Given the description of an element on the screen output the (x, y) to click on. 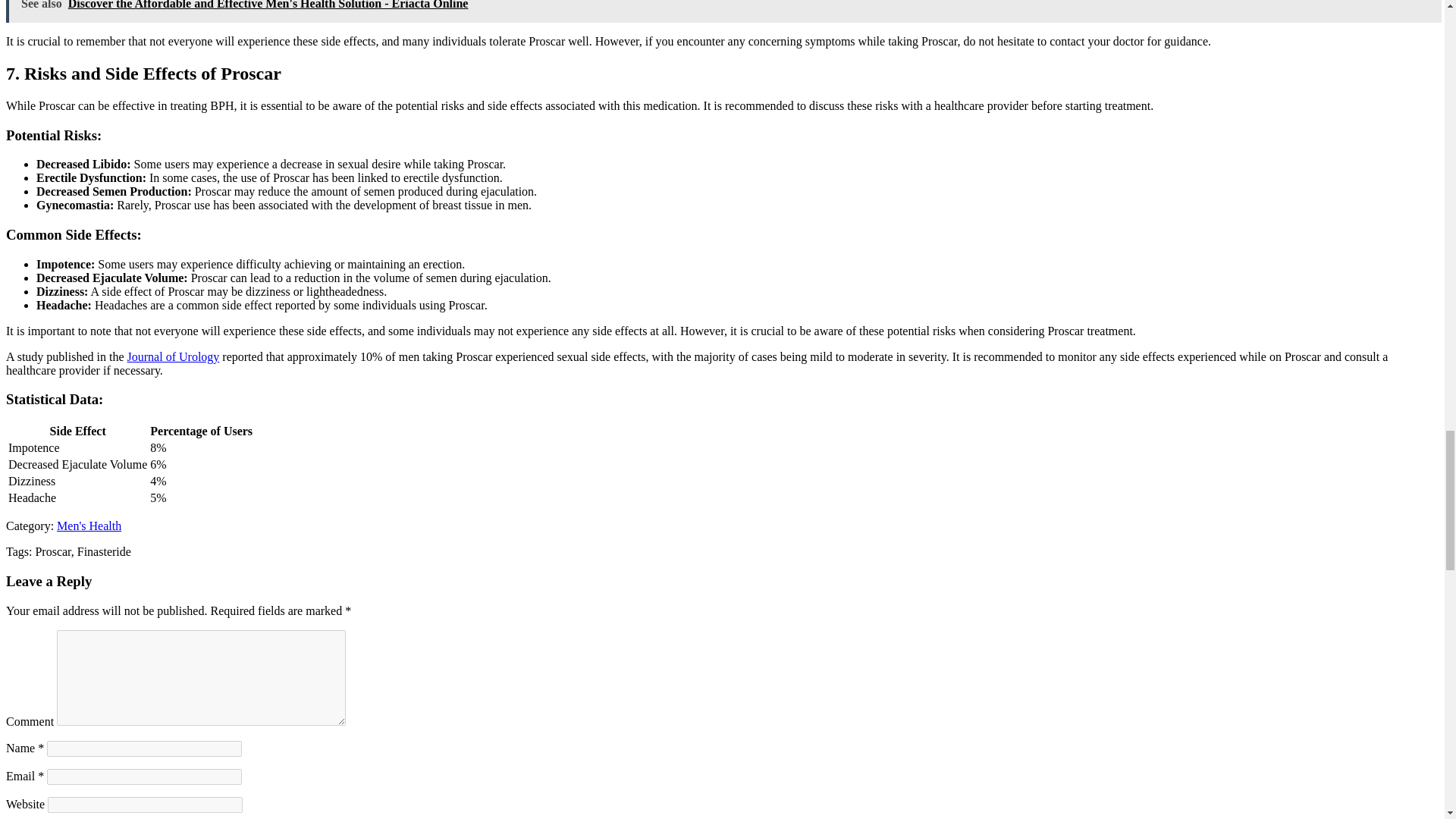
Journal of Urology (173, 356)
Men's Health (88, 525)
